Given the description of an element on the screen output the (x, y) to click on. 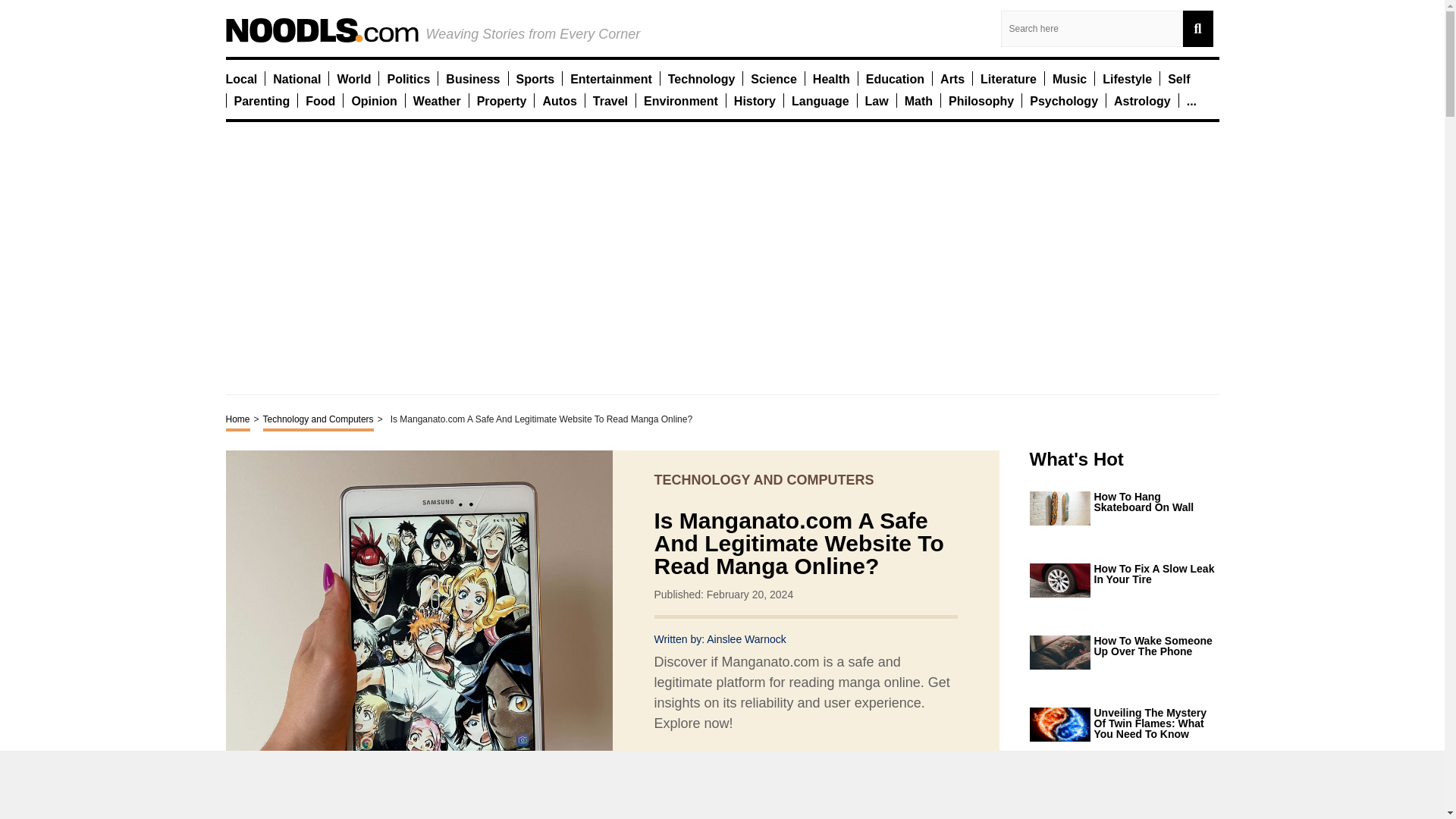
Sports (534, 78)
Local (241, 78)
Lifestyle (1126, 78)
Astrology (1141, 100)
Health (831, 78)
Autos (558, 100)
History (754, 100)
Business (472, 78)
Technology (701, 78)
Weather (437, 100)
